Given the description of an element on the screen output the (x, y) to click on. 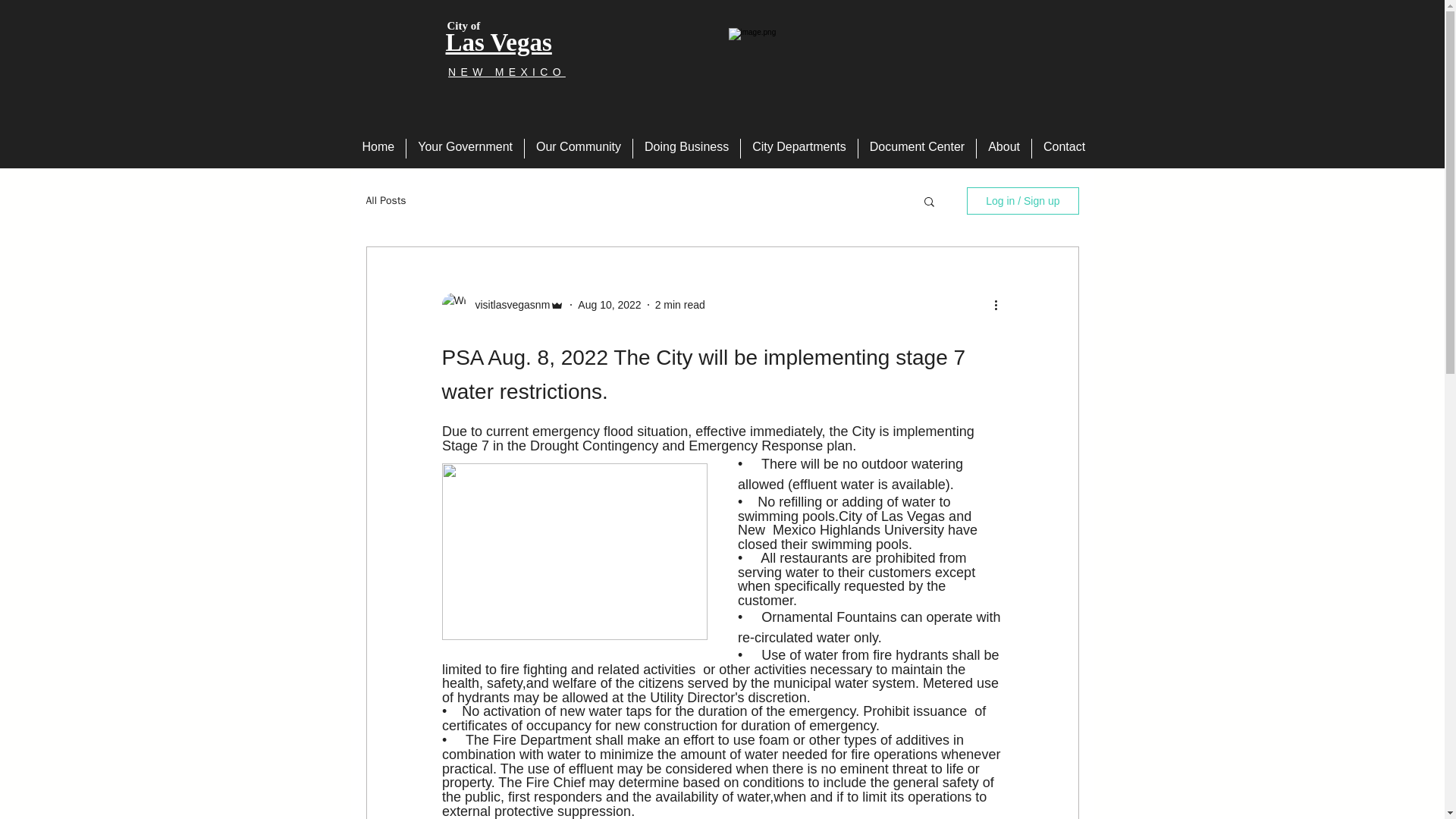
Our Community (577, 148)
Your Government (465, 148)
Las Vegas (498, 42)
Home (378, 148)
Doing Business (686, 148)
Aug 10, 2022 (609, 304)
visitlasvegasnm (507, 304)
City Departments (799, 148)
NEW MEXICO (507, 71)
2 min read (679, 304)
